Given the description of an element on the screen output the (x, y) to click on. 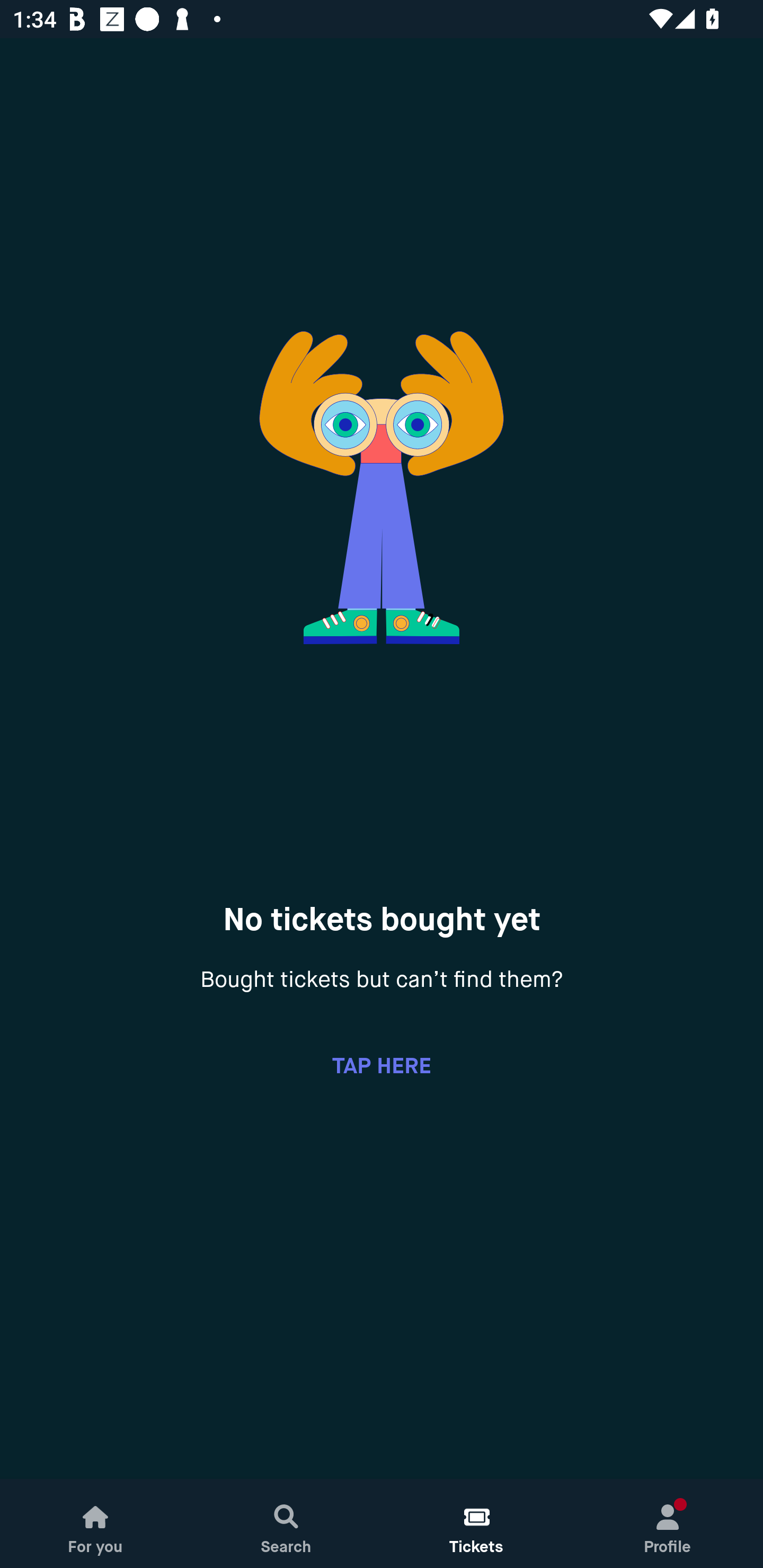
TAP HERE (381, 1065)
For you (95, 1523)
Search (285, 1523)
Profile, New notification Profile (667, 1523)
